Given the description of an element on the screen output the (x, y) to click on. 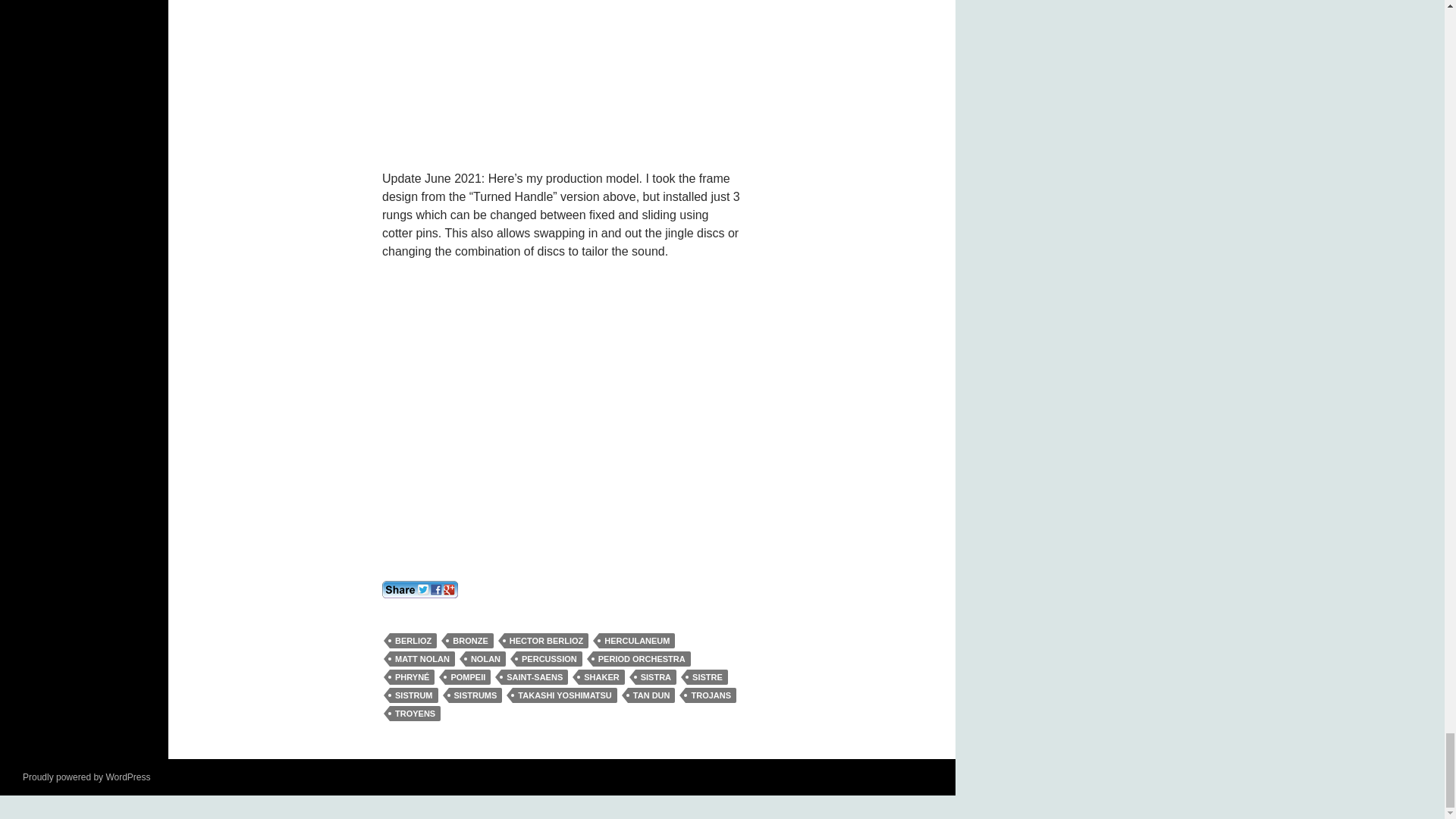
HECTOR BERLIOZ (546, 640)
BERLIOZ (413, 640)
Multi-timbral Ancient Roman style Sistrum by Matt Nolan (561, 413)
HERCULANEUM (636, 640)
Research trip: British Museum 2019 (561, 73)
BRONZE (469, 640)
